Given the description of an element on the screen output the (x, y) to click on. 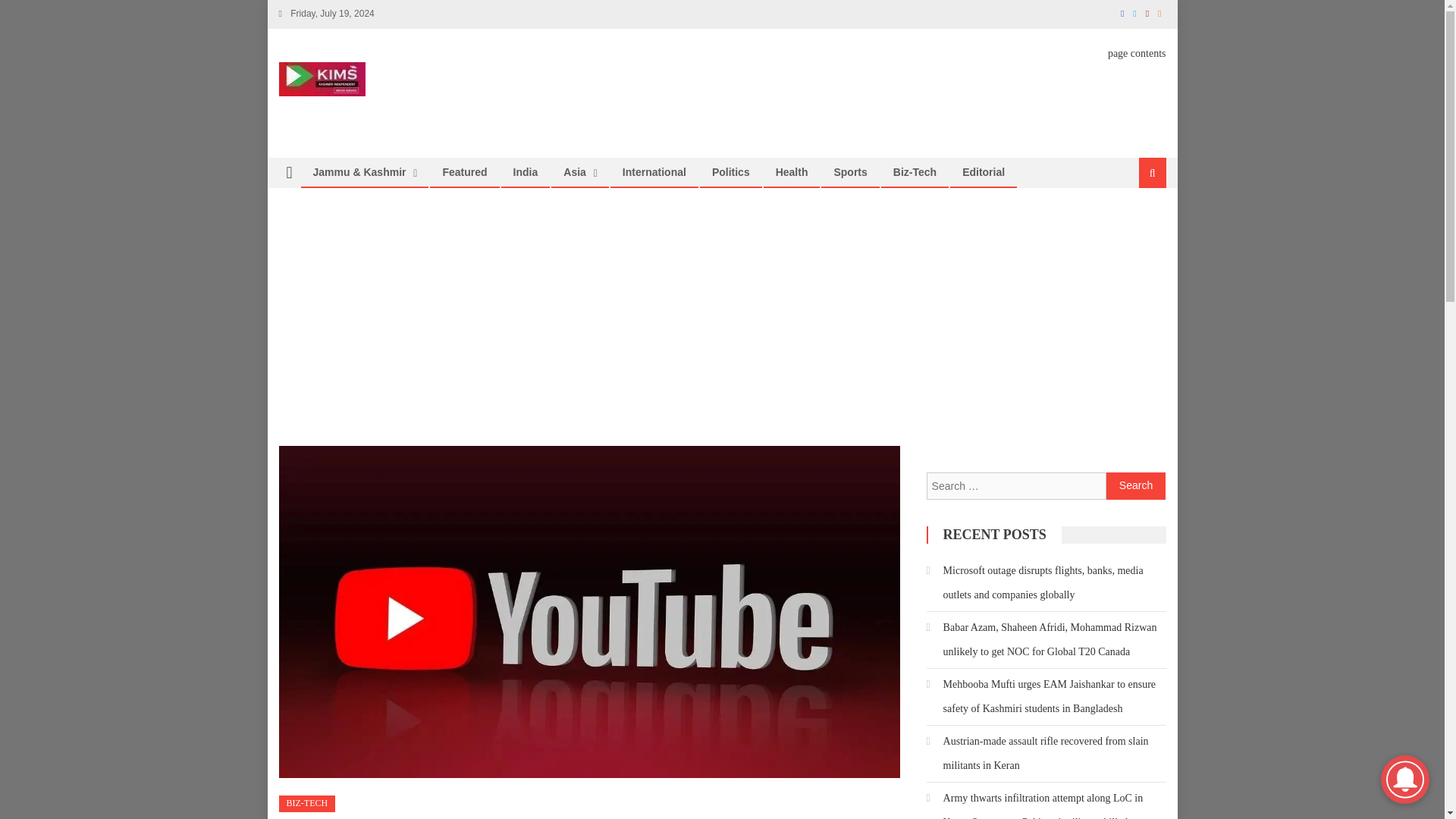
Politics (730, 172)
Editorial (983, 172)
Health (791, 172)
Search (1136, 485)
Search (1133, 223)
International (654, 172)
Sports (849, 172)
India (526, 172)
Search (1136, 485)
BIZ-TECH (307, 803)
Biz-Tech (914, 172)
Featured (463, 172)
Asia (573, 172)
